Given the description of an element on the screen output the (x, y) to click on. 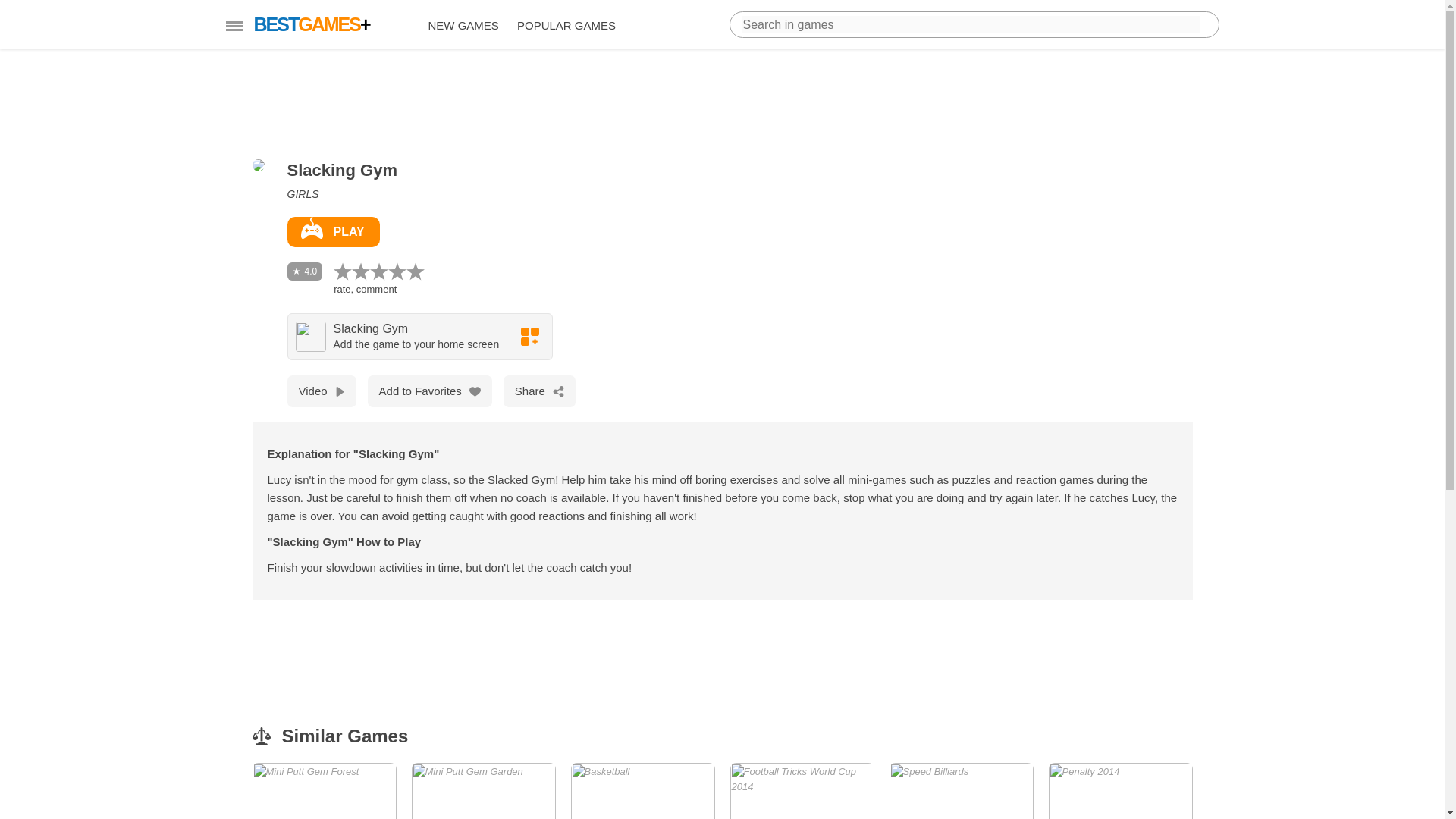
Basketball (642, 790)
Penalty 2014 (960, 790)
Speed Billiards (1120, 790)
Ana Sayfa (960, 790)
New Games (328, 24)
Football Tricks World Cup 2014 (462, 25)
PLAY (642, 790)
Mini Putt Gem Forest (801, 790)
Mini Putt Gem Garden (801, 790)
NEW GAMES (323, 790)
POPULAR GAMES (332, 232)
